Given the description of an element on the screen output the (x, y) to click on. 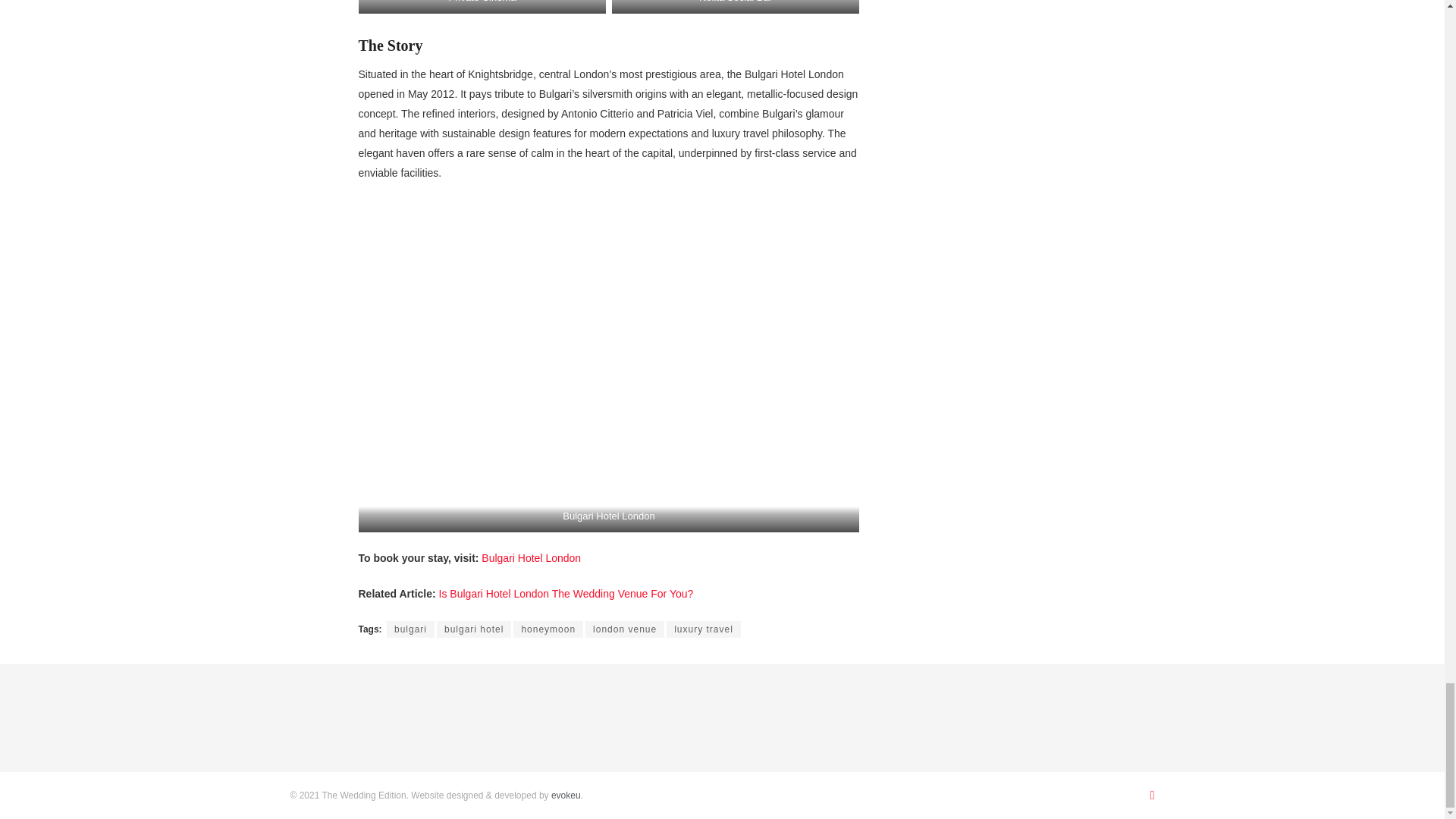
evokeu (564, 795)
